Given the description of an element on the screen output the (x, y) to click on. 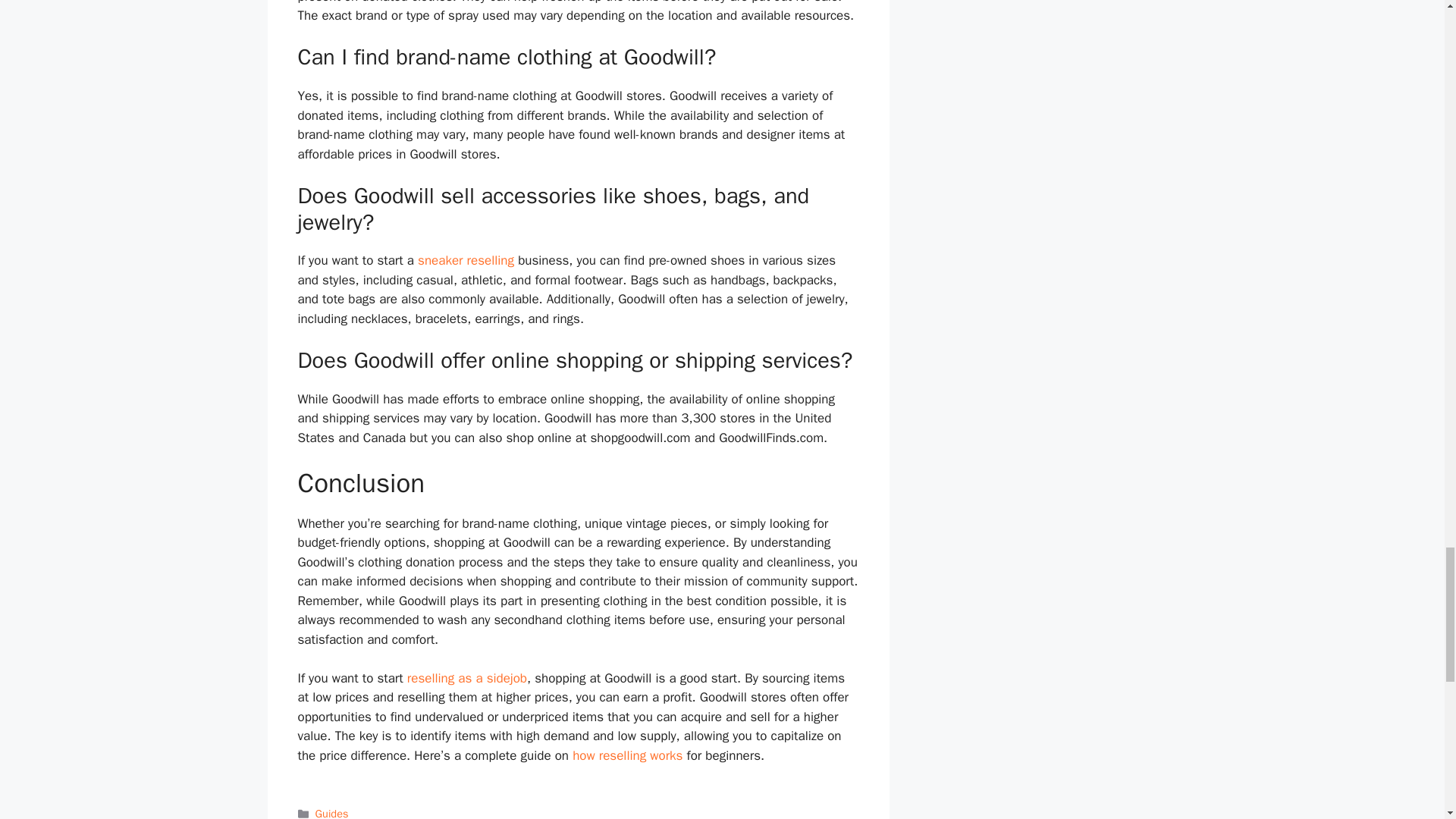
sneaker reselling (465, 260)
reselling as a sidejob (467, 678)
how reselling works (627, 755)
Guides (332, 812)
